Given the description of an element on the screen output the (x, y) to click on. 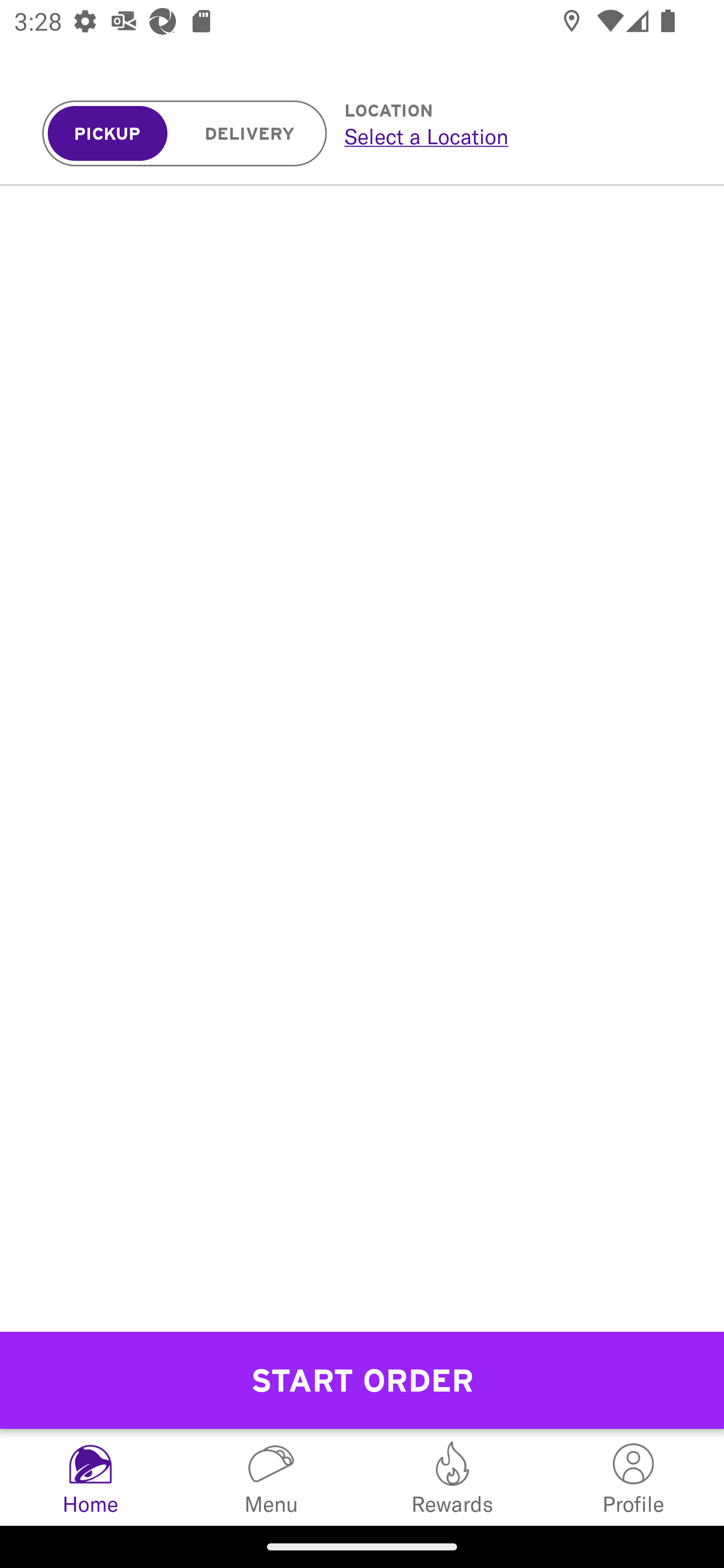
PICKUP (107, 133)
DELIVERY (249, 133)
Select a Location (511, 136)
START ORDER (362, 1379)
Home (90, 1476)
Menu (271, 1476)
Rewards (452, 1476)
My Info Profile (633, 1476)
